Given the description of an element on the screen output the (x, y) to click on. 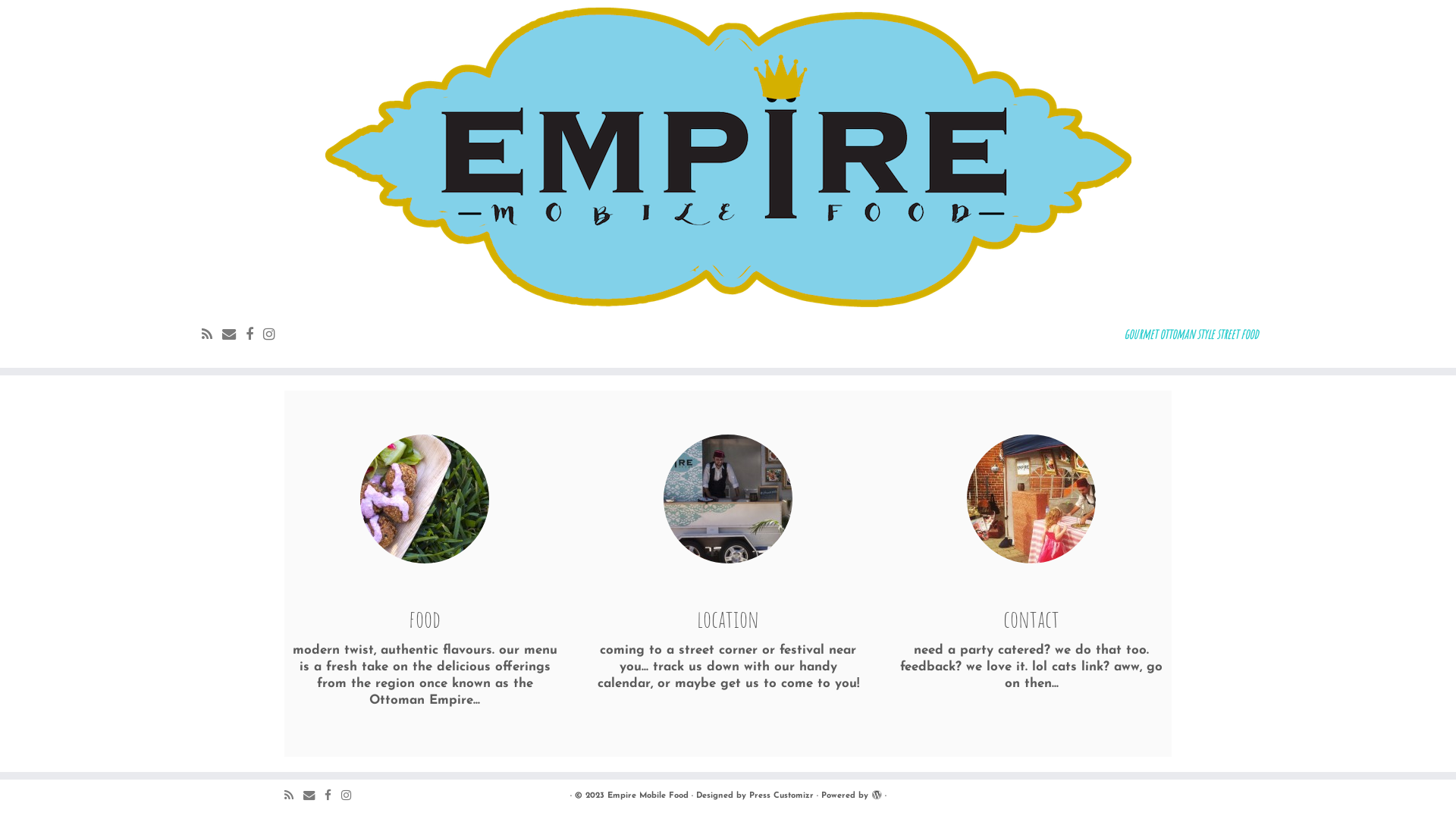
E-mail Element type: hover (233, 335)
Subscribe to my rss feed Element type: hover (293, 796)
E-mail Element type: hover (313, 796)
Press Customizr Element type: text (781, 795)
Empire Mobile Food Element type: text (646, 795)
location Element type: hover (726, 498)
food Element type: hover (423, 498)
Follow me on Facebook Element type: hover (254, 335)
Subscribe to my rss feed Element type: hover (211, 335)
Follow me on Instagram Element type: hover (274, 335)
contact Element type: hover (1030, 498)
Powered by WordPress Element type: hover (875, 792)
Follow me on Instagram Element type: hover (350, 796)
Follow me on Facebook Element type: hover (332, 796)
